Given the description of an element on the screen output the (x, y) to click on. 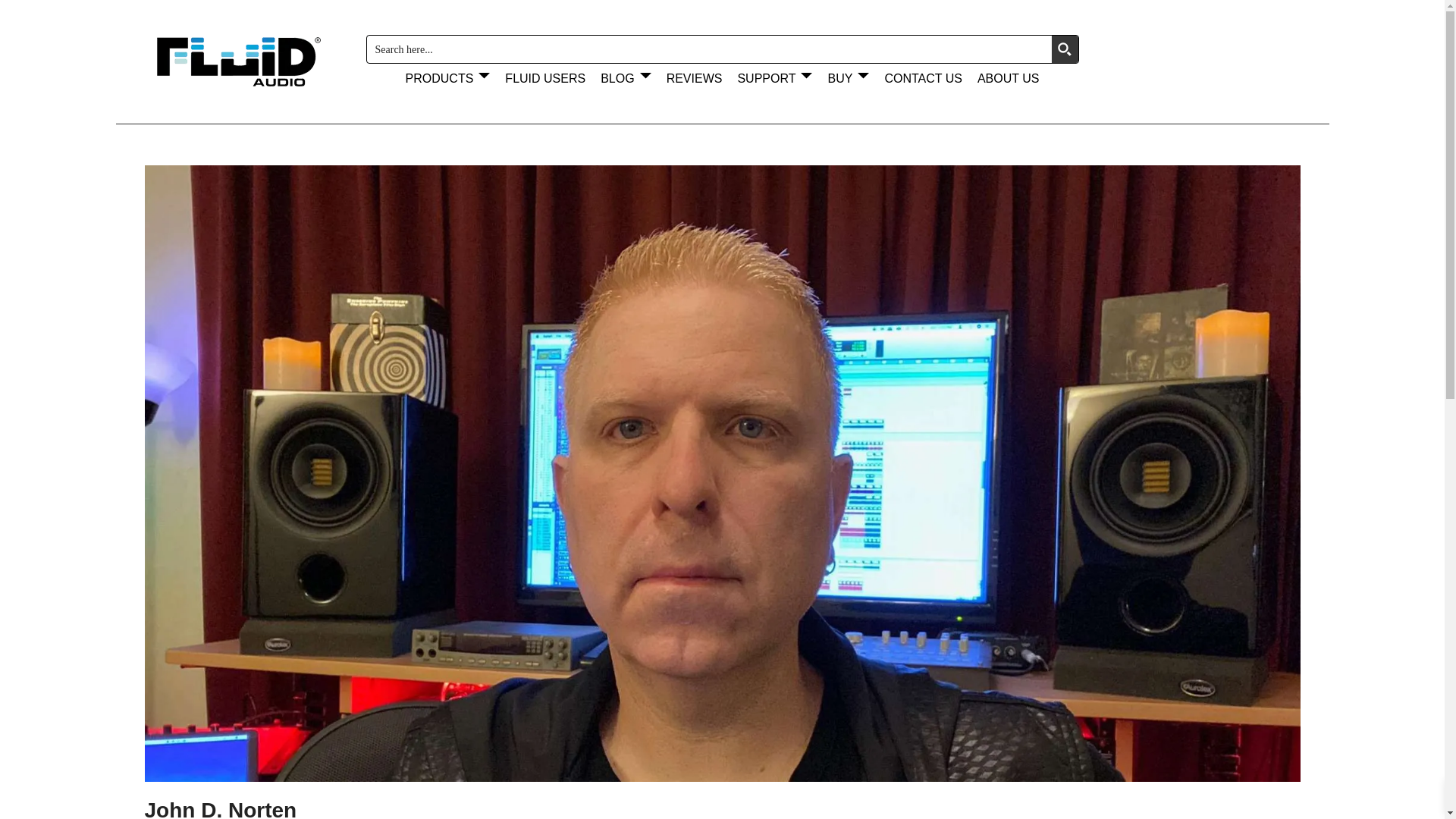
PRODUCTS (447, 78)
BLOG (625, 78)
REVIEWS (694, 78)
SUPPORT (774, 78)
BUY (847, 78)
Fluid Audio logo mobile (236, 61)
CONTACT US (922, 78)
FLUID USERS (544, 78)
